Given the description of an element on the screen output the (x, y) to click on. 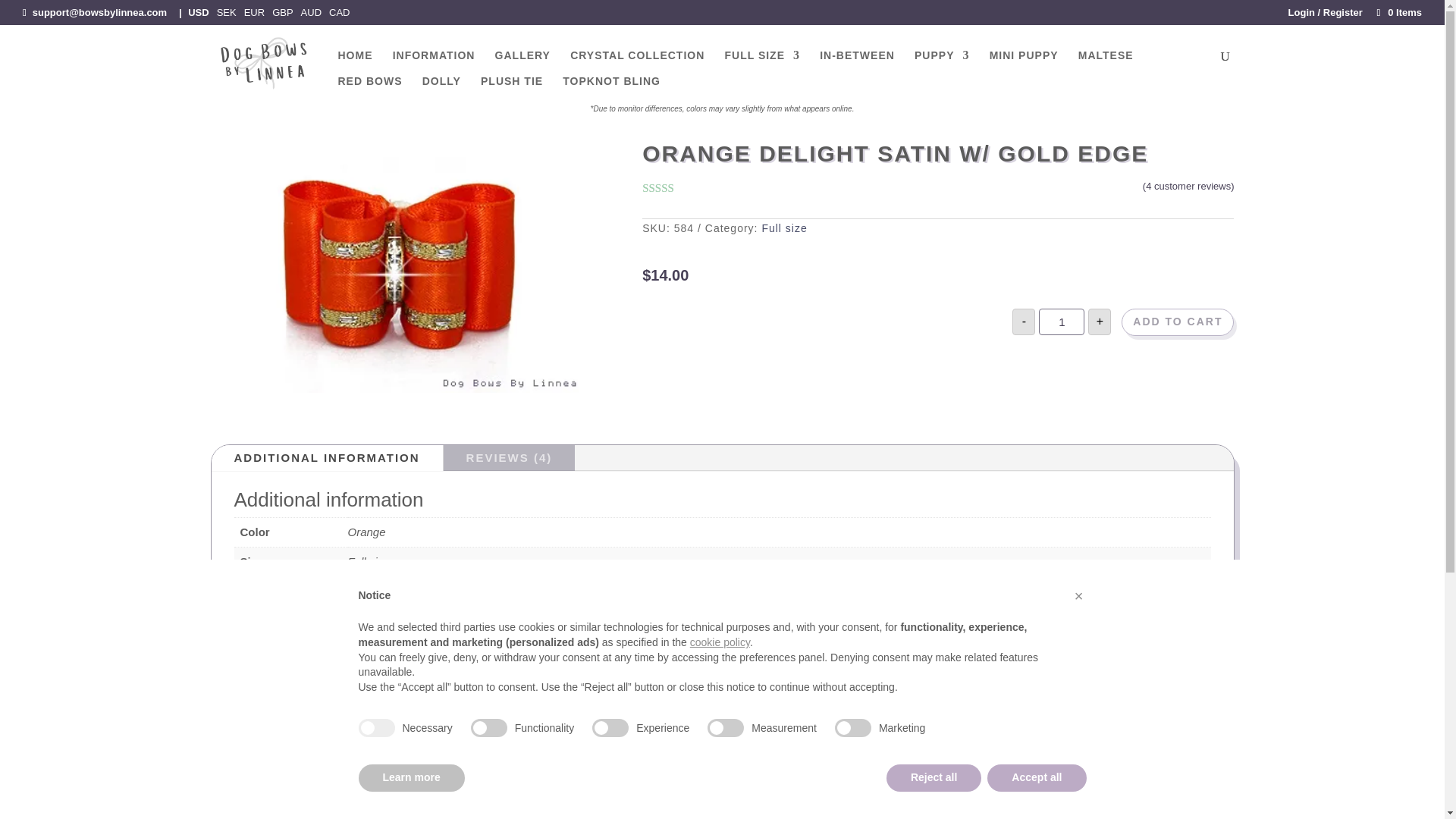
MALTESE (1106, 62)
GALLERY (522, 62)
CAD (339, 12)
false (852, 728)
Qty (1061, 321)
FZGoldEdgeOrange (398, 267)
USD (197, 12)
PLUSH TIE (511, 88)
SEK (225, 12)
GBP (282, 12)
AUD (311, 12)
false (725, 728)
1 (1061, 321)
IN-BETWEEN (857, 62)
HOME (354, 62)
